Given the description of an element on the screen output the (x, y) to click on. 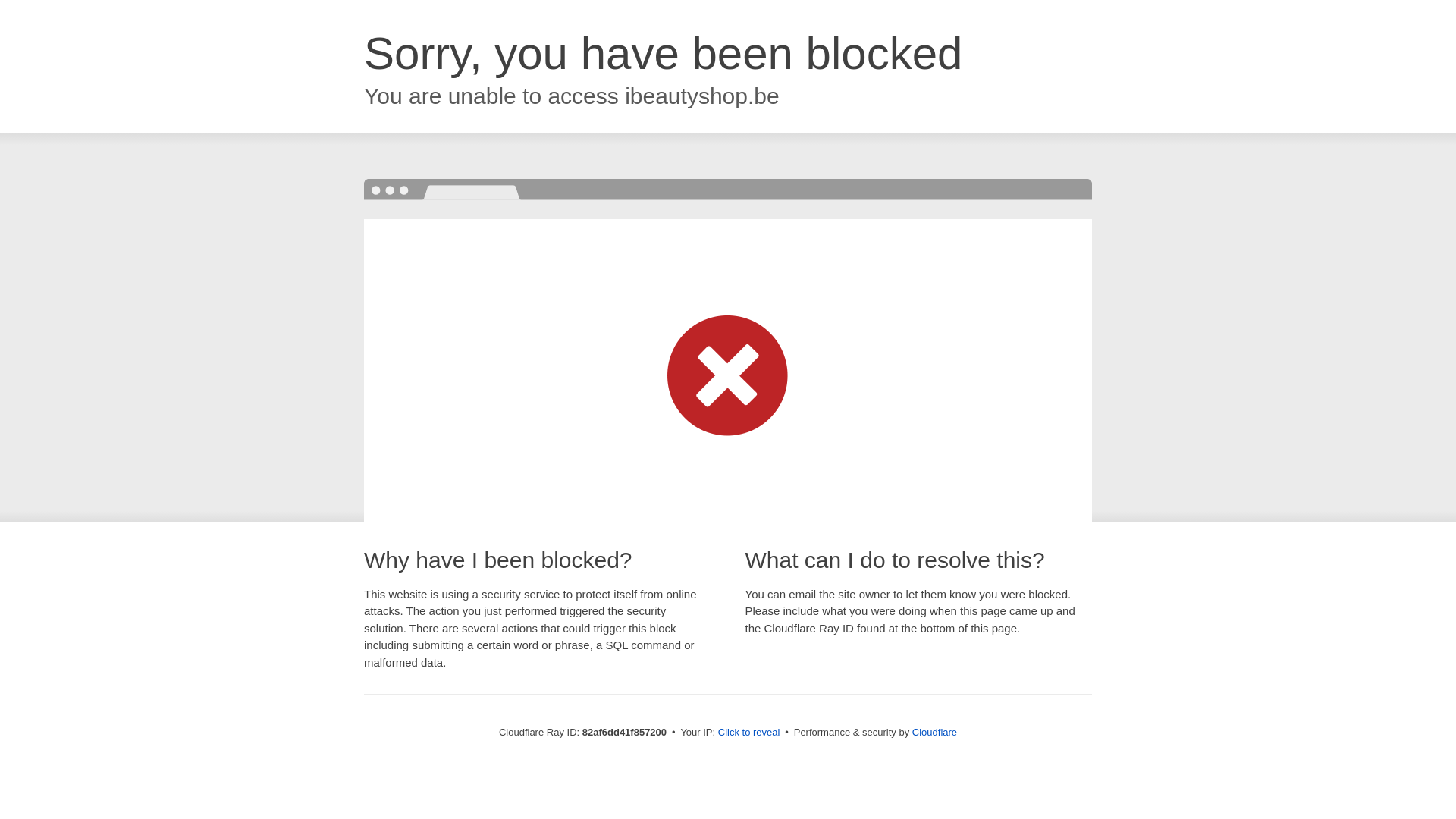
Cloudflare Element type: text (934, 731)
Click to reveal Element type: text (749, 732)
